Given the description of an element on the screen output the (x, y) to click on. 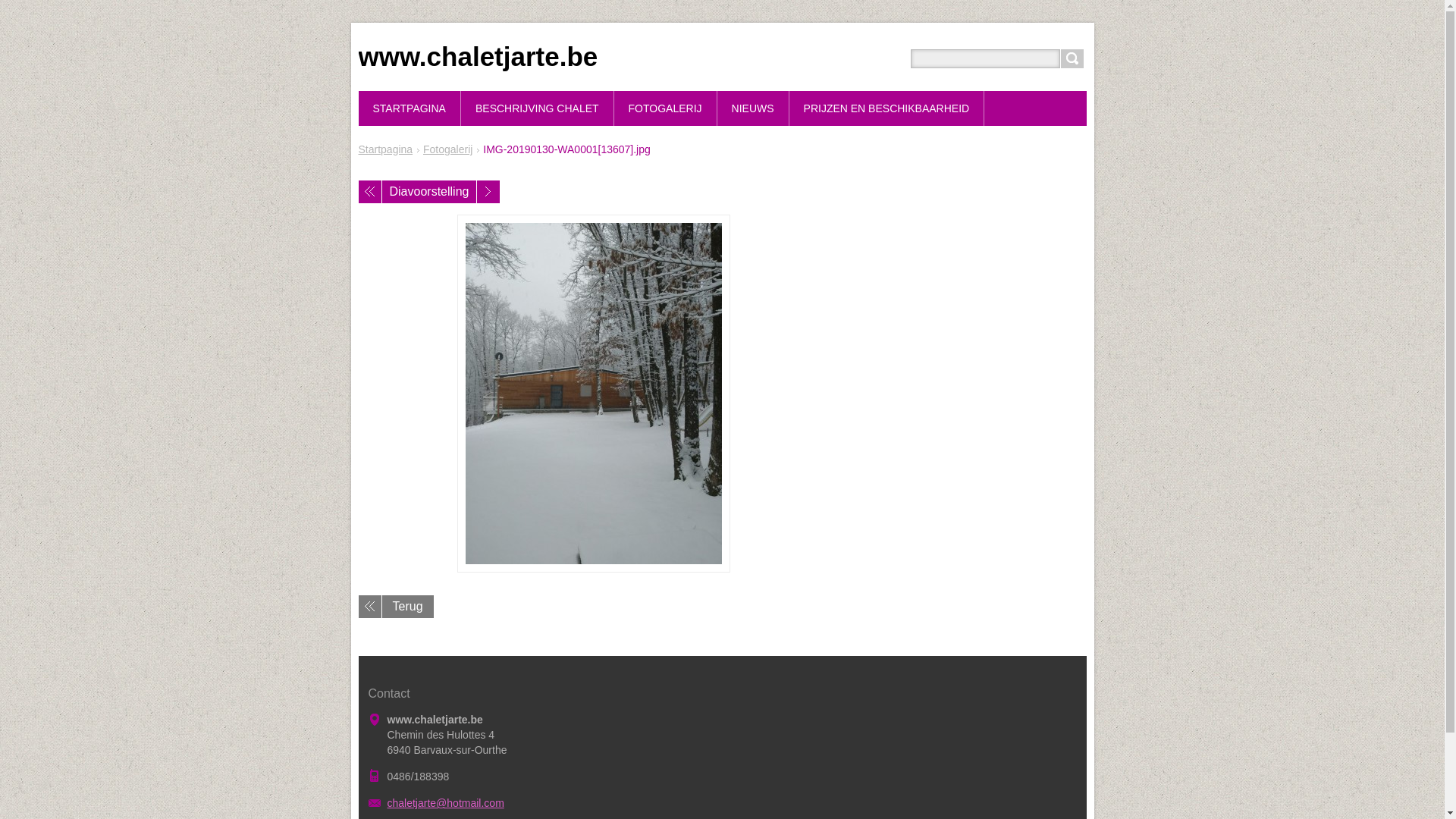
chaletjarte@hotmail.com Element type: text (444, 803)
FOTOGALERIJ Element type: text (665, 108)
Terug Element type: text (395, 606)
Vorige Element type: text (368, 191)
Pagina zal in een nieuw scherm getoond worden. Element type: hover (592, 393)
www.chaletjarte.be Element type: text (477, 56)
Zoeken Element type: text (1071, 58)
Volgende Element type: text (487, 191)
STARTPAGINA Element type: text (408, 108)
BESCHRIJVING CHALET Element type: text (537, 108)
Diavoorstelling Element type: text (429, 191)
Fotogalerij Element type: text (447, 149)
NIEUWS Element type: text (753, 108)
PRIJZEN EN BESCHIKBAARHEID Element type: text (887, 108)
Startpagina Element type: text (384, 149)
